Given the description of an element on the screen output the (x, y) to click on. 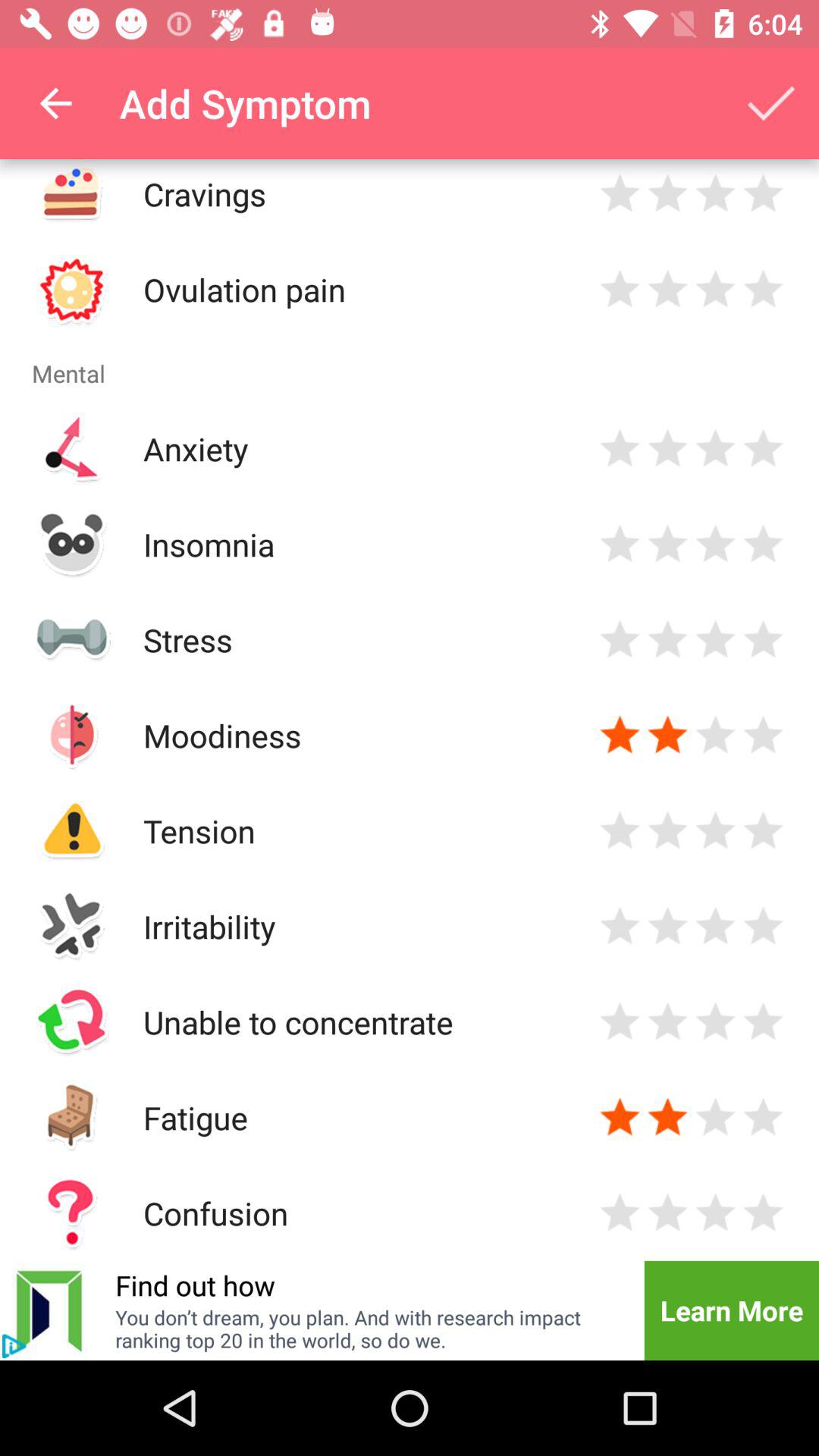
rate 5 star (763, 1117)
